Given the description of an element on the screen output the (x, y) to click on. 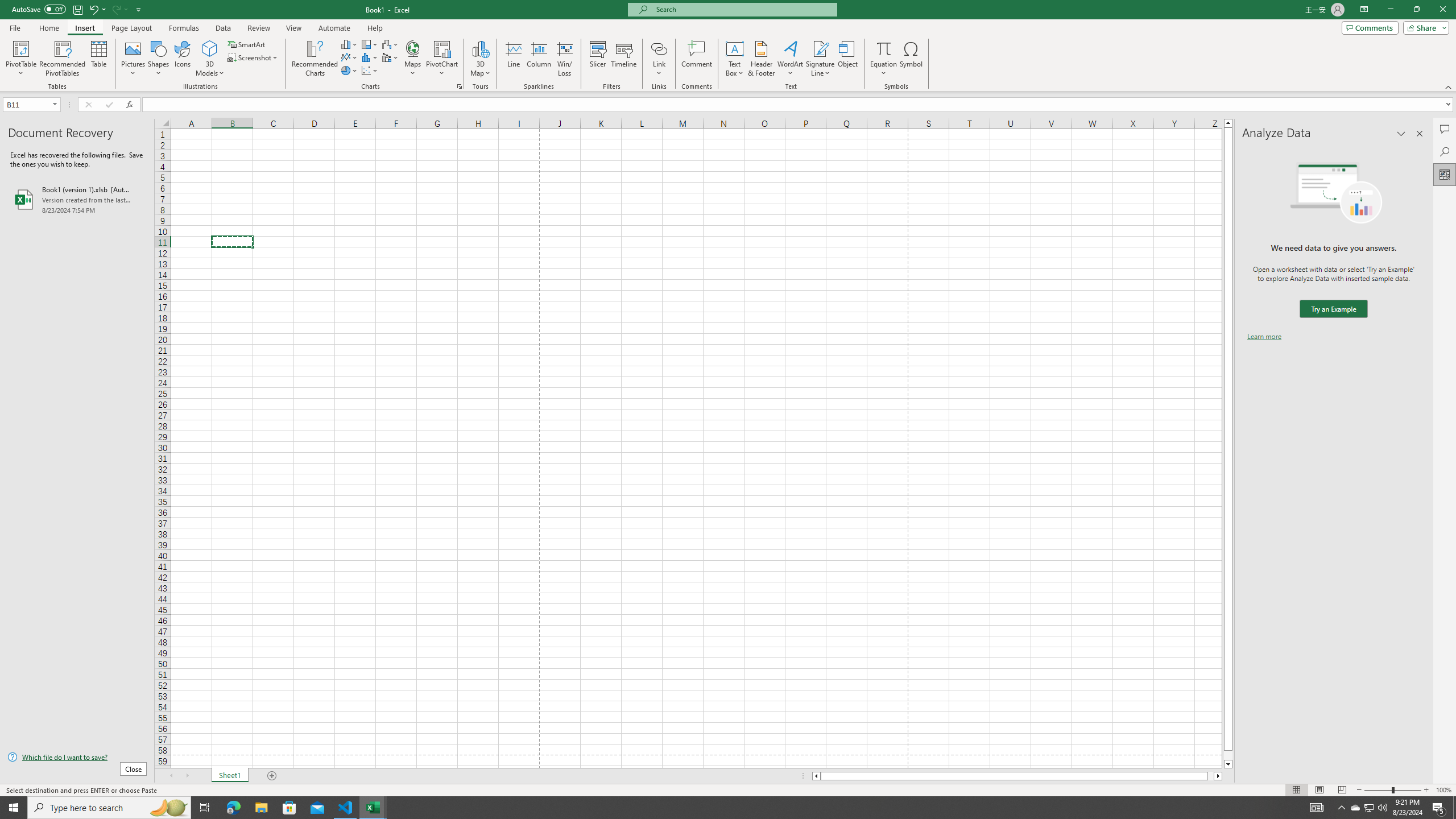
Icons (182, 58)
Search (1444, 151)
Timeline (623, 58)
